Given the description of an element on the screen output the (x, y) to click on. 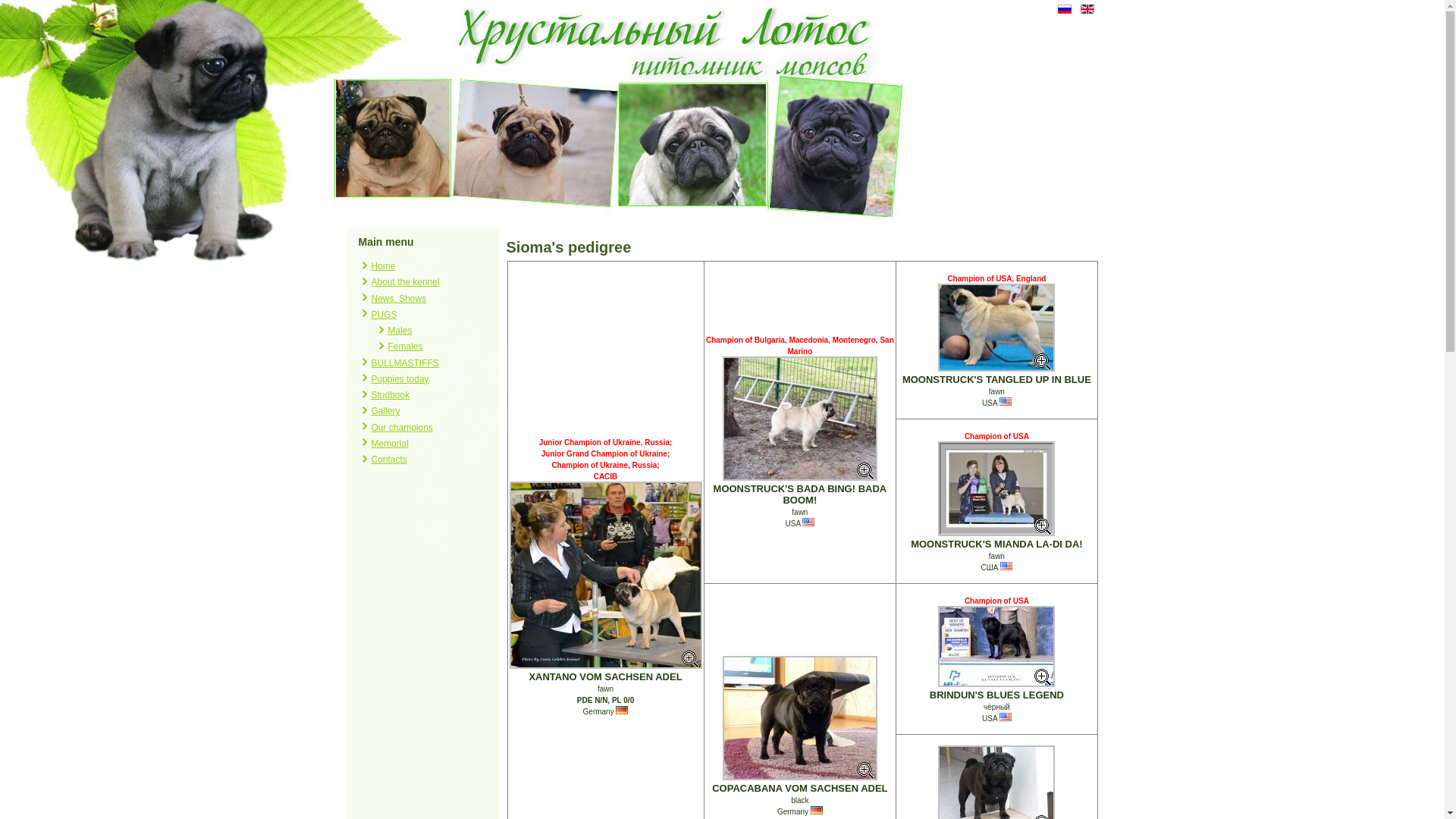
Copacabana Vom Sachsen Adel Element type: hover (799, 718)
Xantano Vom Sachsen Adel Element type: hover (605, 574)
Our champions Element type: text (402, 426)
PUGS Element type: text (384, 314)
USA Element type: hover (1006, 565)
Germany Element type: hover (621, 710)
About the kennel Element type: text (405, 281)
Memorial Element type: text (389, 443)
Moonstruck's Mianda La-Di Da! Element type: hover (996, 488)
Moonstruck's Tungled Up In Blue Element type: hover (996, 328)
Moonstruck's Tungled Up In Blue Element type: hover (996, 327)
Germany Element type: hover (816, 810)
News. Shows Element type: text (398, 297)
Studbook Element type: text (390, 394)
USA Element type: hover (808, 521)
Xantano Vom Sachsen Adel Element type: hover (605, 576)
Home Element type: text (383, 265)
USA Element type: hover (1005, 401)
Brindun's Blues Legend Element type: hover (996, 647)
Moonstruck's Bada Bing! Bada Boom! Element type: hover (799, 418)
USA Element type: hover (1005, 716)
Brindun's Blues Legend Element type: hover (996, 646)
Copacabana Vom Sachsen Adel Element type: hover (799, 717)
Moonstruck's Bada Bing! Bada Boom! Element type: hover (799, 419)
Females Element type: text (405, 346)
Puppies today Element type: text (400, 378)
BULLMASTIFFS Element type: text (405, 362)
Contacts Element type: text (389, 459)
Moonstruck's Mianda La-Di Da! Element type: hover (996, 489)
Males Element type: text (400, 330)
Gallery Element type: text (385, 410)
English (UK) Element type: hover (1087, 8)
